Given the description of an element on the screen output the (x, y) to click on. 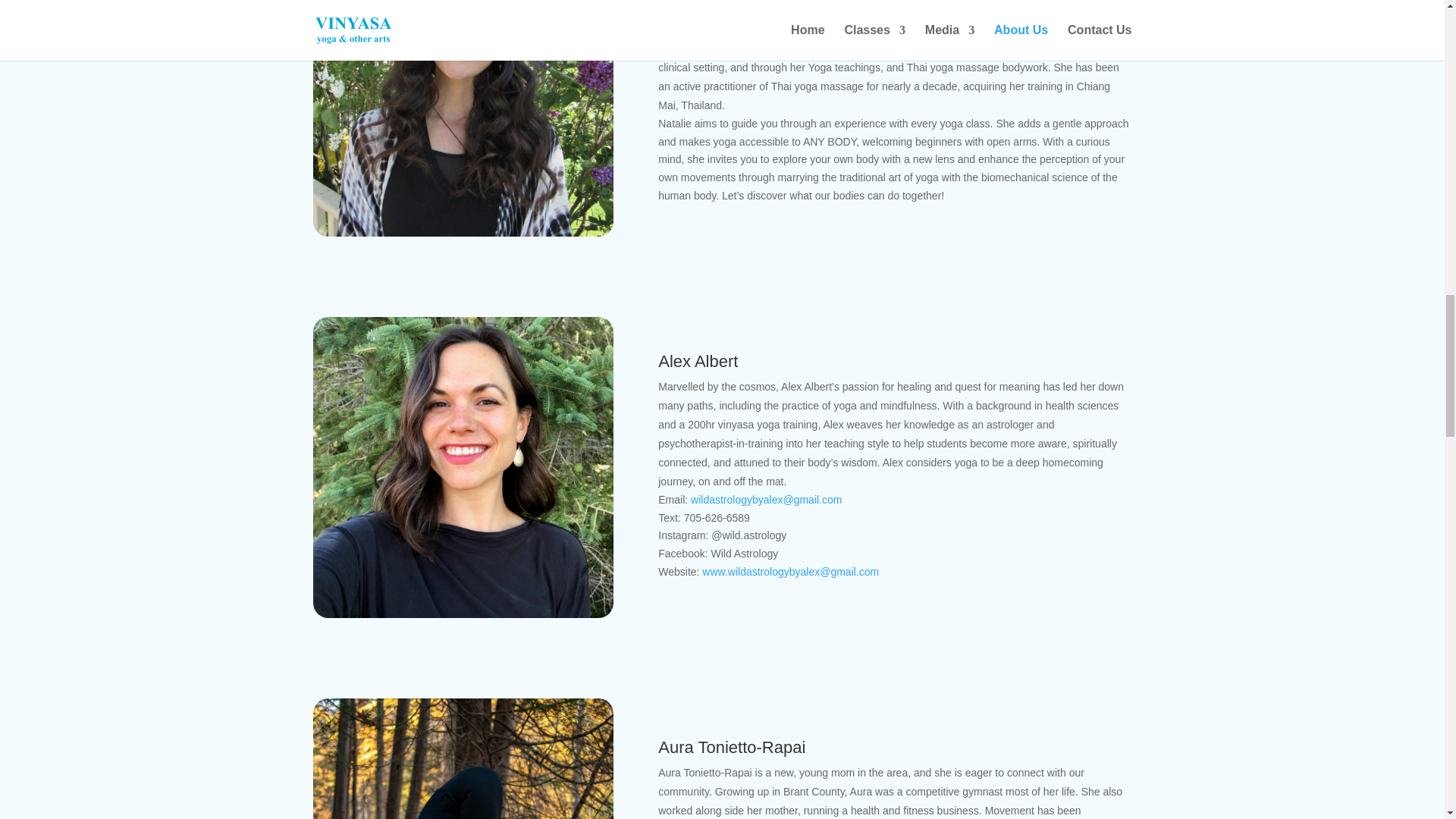
natalie-d (462, 118)
Alex (462, 466)
Aura (462, 758)
